Given the description of an element on the screen output the (x, y) to click on. 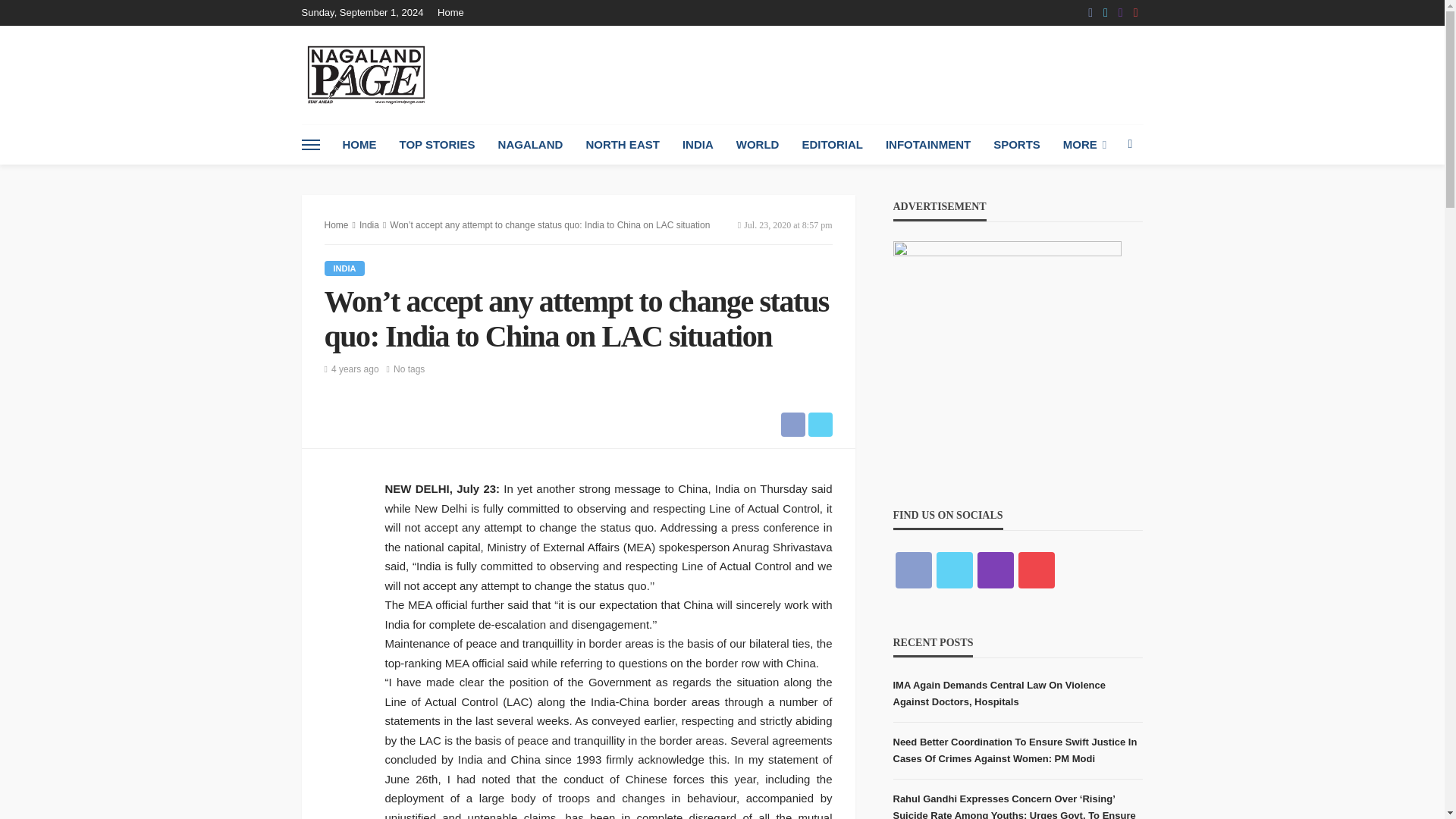
MORE (1084, 144)
TOP STORIES (437, 144)
INFOTAINMENT (928, 144)
nagaland-page-logo (365, 74)
Home (454, 12)
SPORTS (1016, 144)
NAGALAND (530, 144)
HOME (358, 144)
EDITORIAL (832, 144)
INDIA (698, 144)
